Given the description of an element on the screen output the (x, y) to click on. 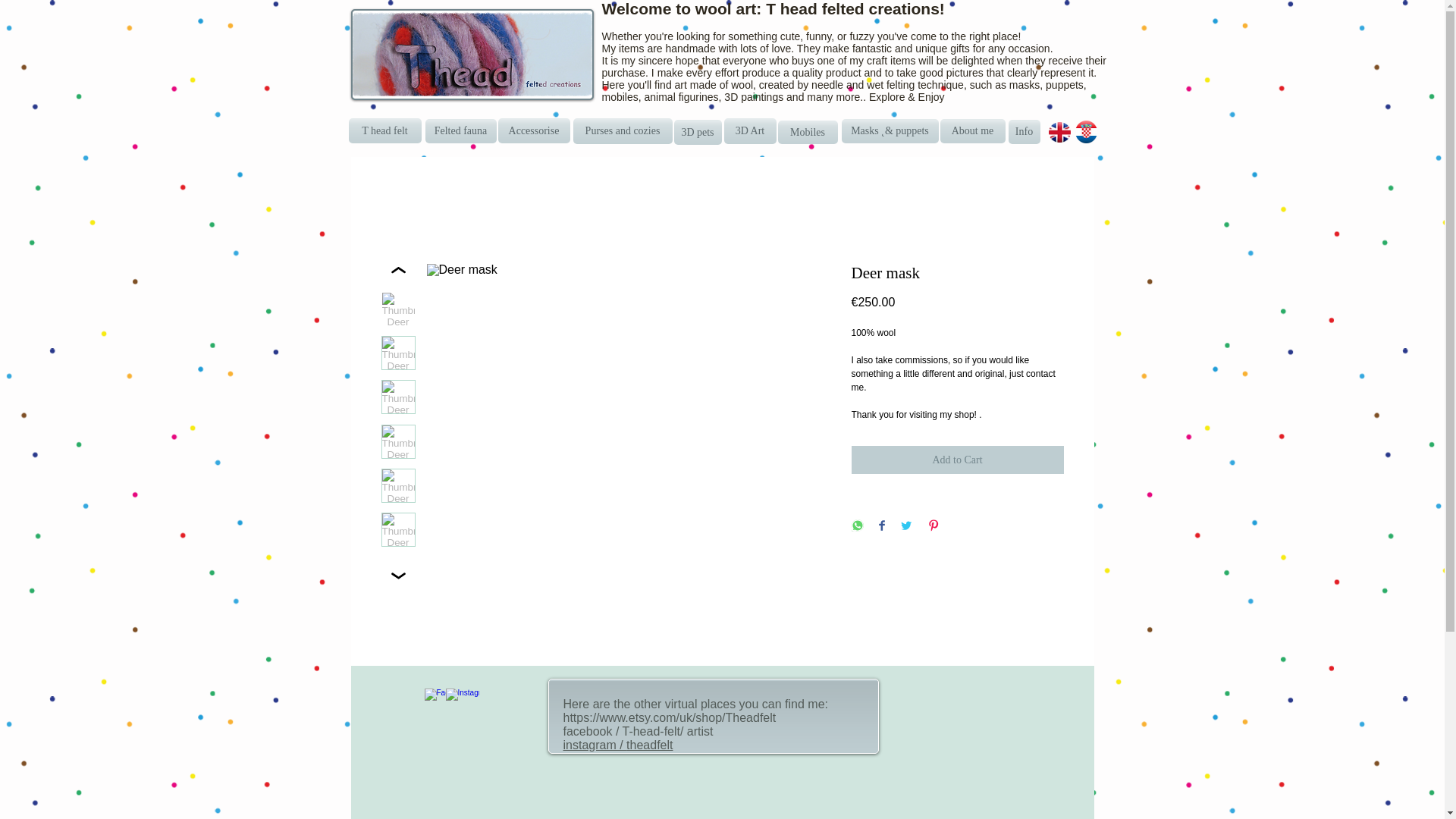
T head felt (385, 130)
Purses and cozies (622, 130)
Accessorise (533, 130)
3D pets (696, 131)
Felted fauna (460, 130)
About me (973, 130)
Add to Cart (956, 459)
Info (1025, 131)
Mobiles (807, 132)
3D Art (749, 130)
